Given the description of an element on the screen output the (x, y) to click on. 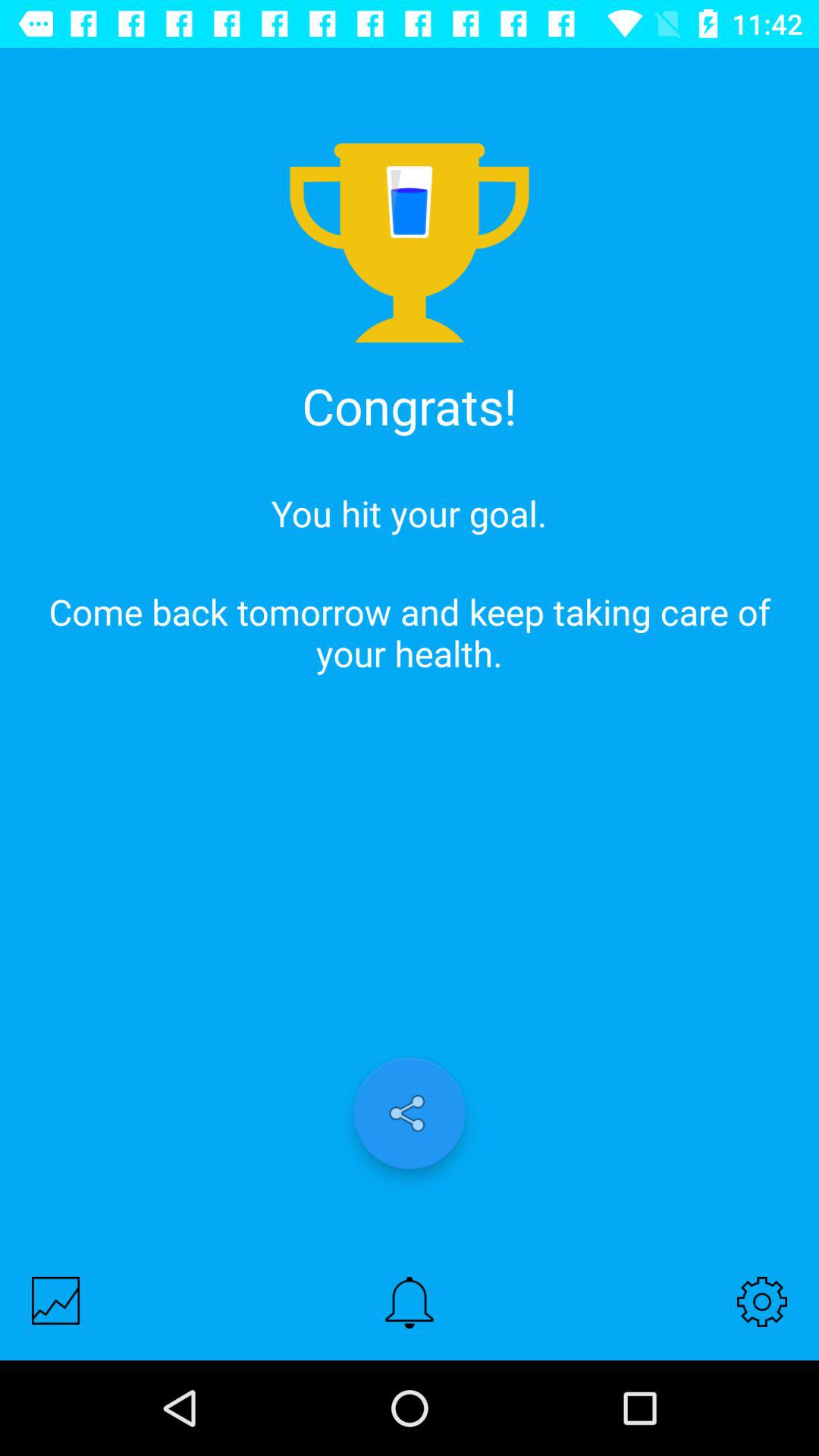
show the graph (55, 1300)
